Given the description of an element on the screen output the (x, y) to click on. 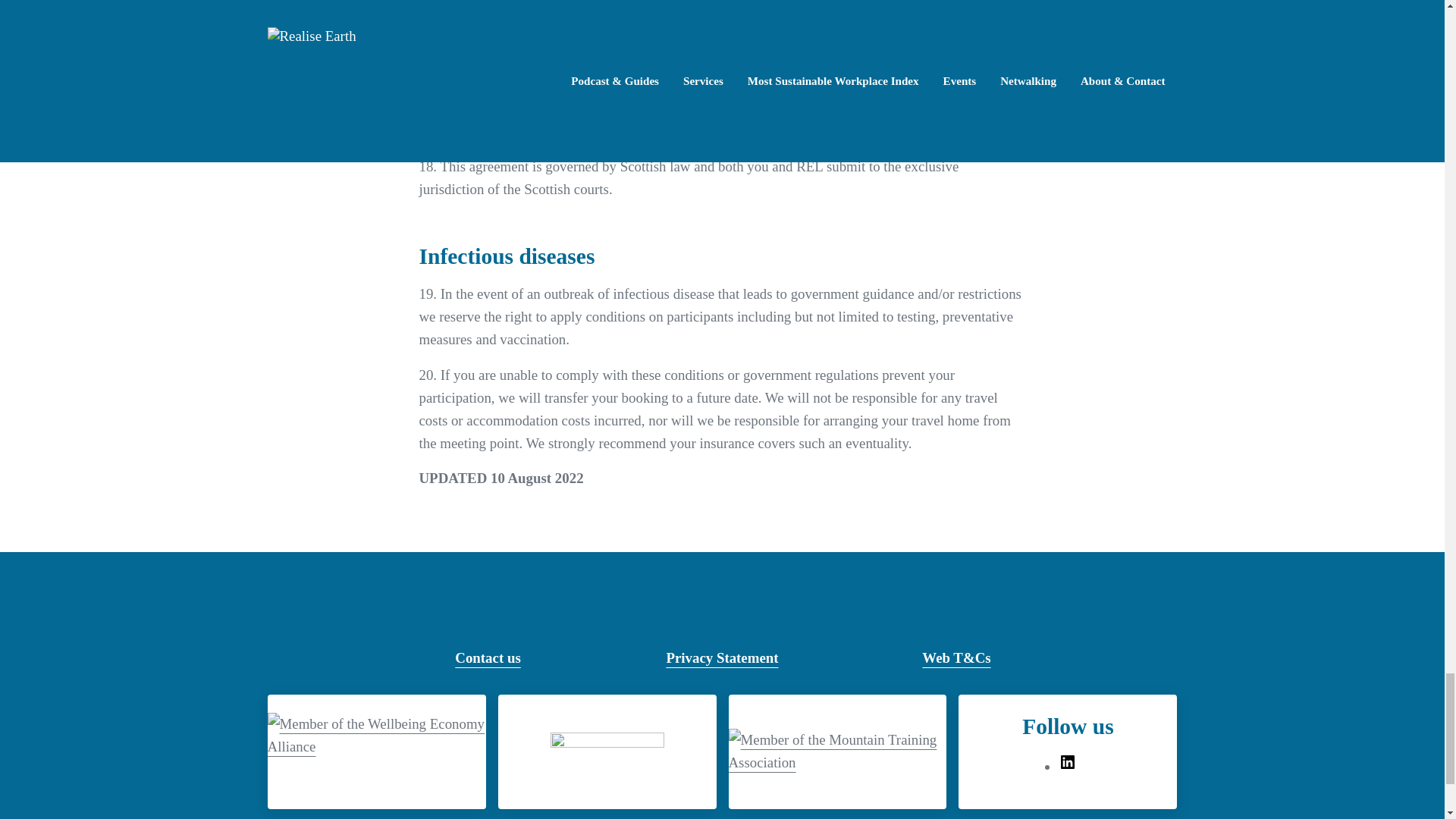
Privacy Statement (721, 657)
Contact us (486, 657)
Realise Earth LinkedIn page (1067, 765)
